Given the description of an element on the screen output the (x, y) to click on. 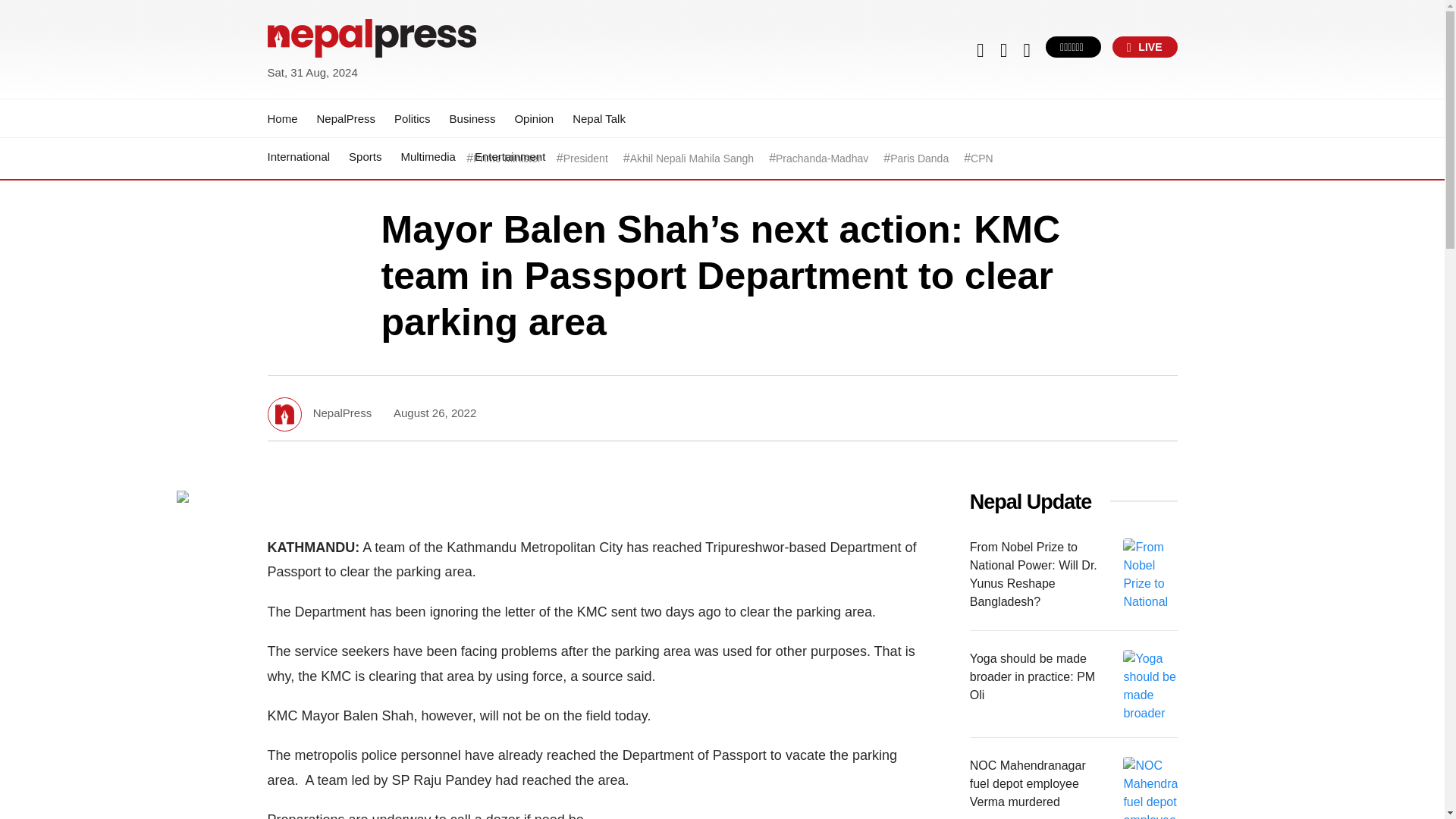
Akhil Nepali Mahila Sangh (692, 158)
Nepal Press (303, 91)
Multimedia (427, 156)
Akhil Nepali Mahila Sangh (692, 158)
CPN (981, 158)
Paris Danda (919, 158)
LIVE (1144, 46)
Prachanda-Madhav (821, 158)
Business (472, 118)
Nepal Talk (599, 118)
